Given the description of an element on the screen output the (x, y) to click on. 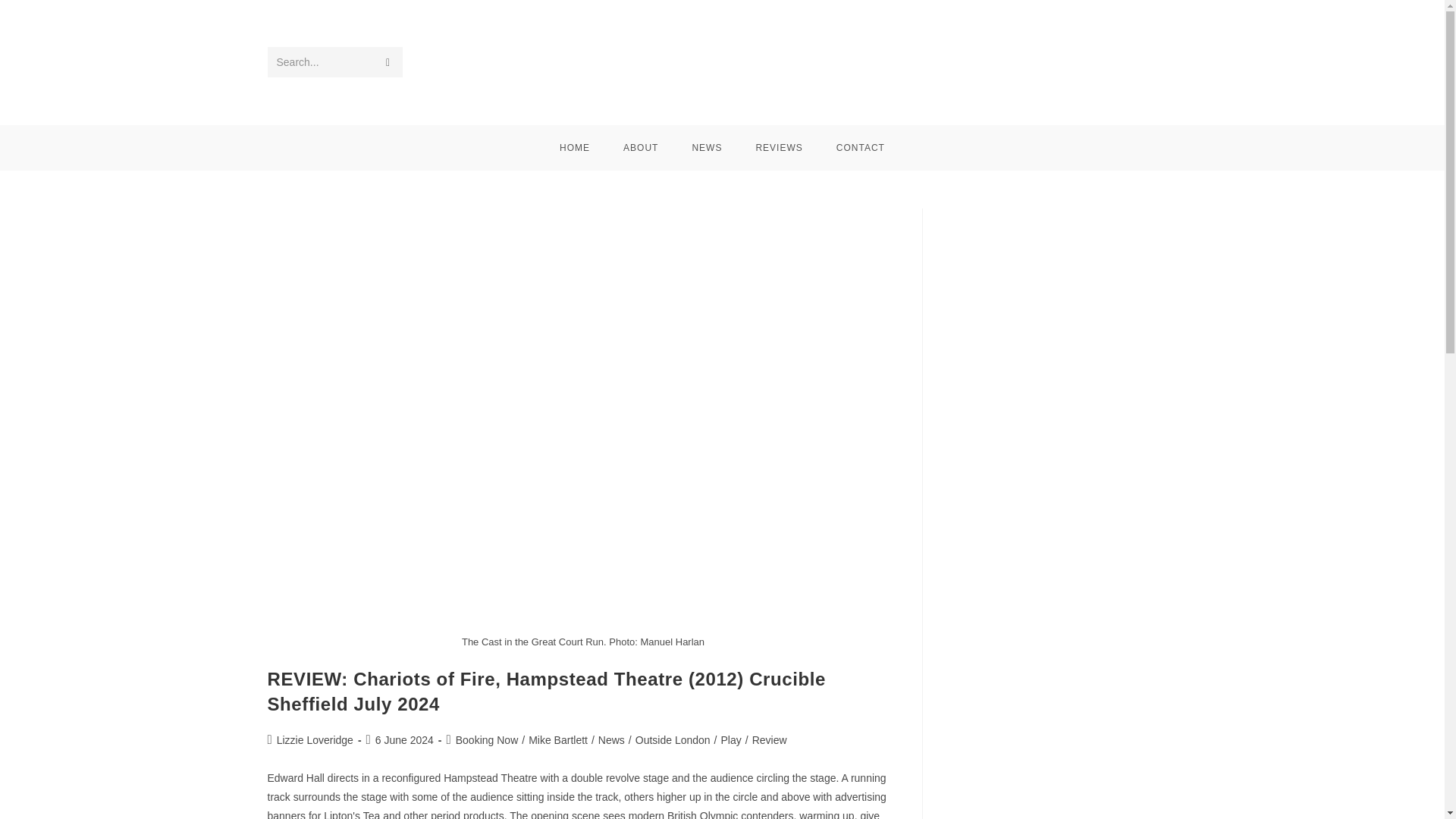
Booking Now (486, 739)
News (611, 739)
Outside London (672, 739)
Mike Bartlett (558, 739)
Posts by Lizzie Loveridge (314, 739)
HOME (575, 147)
CONTACT (860, 147)
NEWS (706, 147)
Lizzie Loveridge (314, 739)
Play (730, 739)
